Given the description of an element on the screen output the (x, y) to click on. 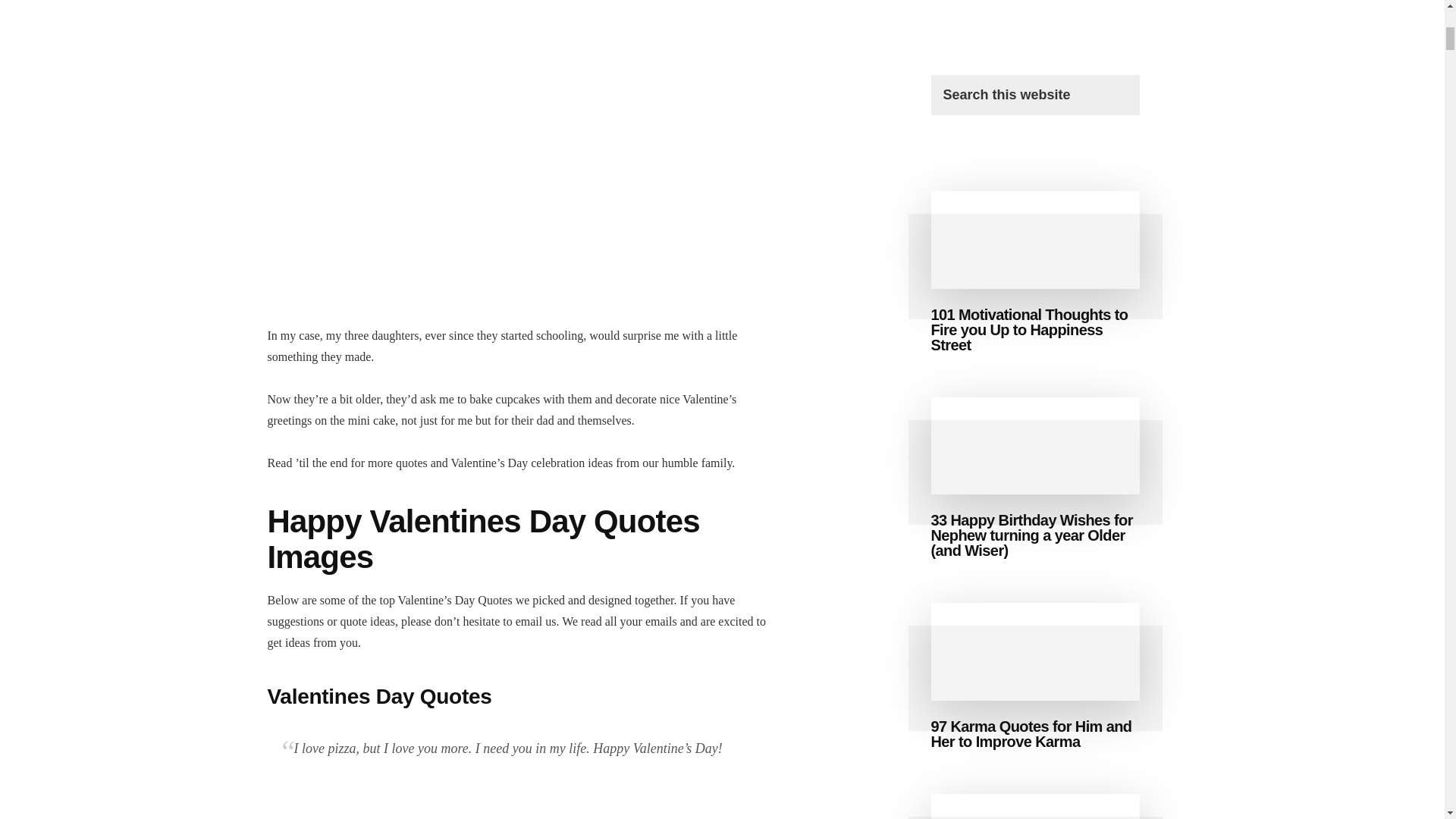
89 Happy Valentines Day Quotes with Love Images for 2022 88 (524, 806)
